Given the description of an element on the screen output the (x, y) to click on. 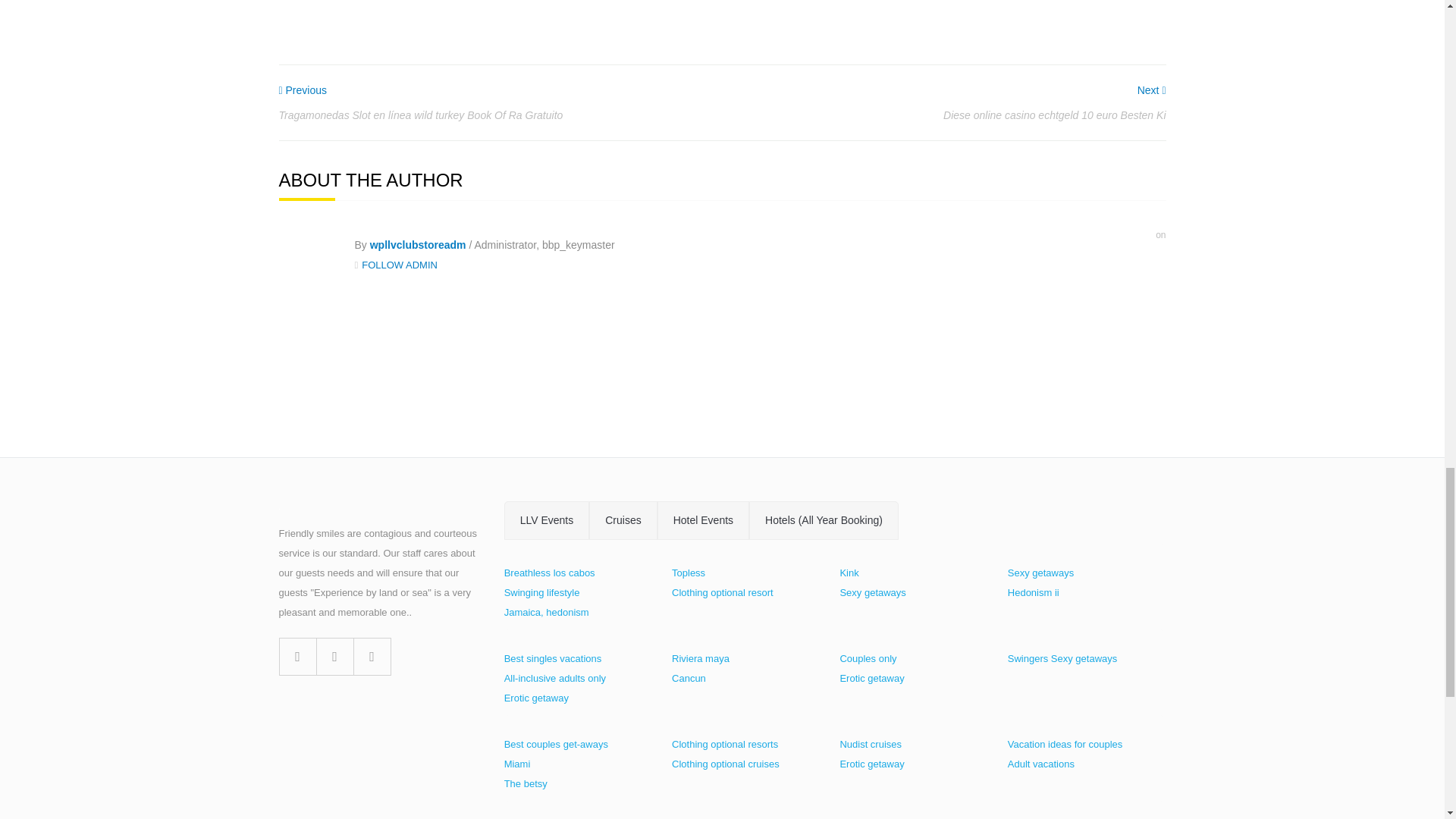
Diese online casino echtgeld 10 euro Besten Ki (1151, 90)
